Given the description of an element on the screen output the (x, y) to click on. 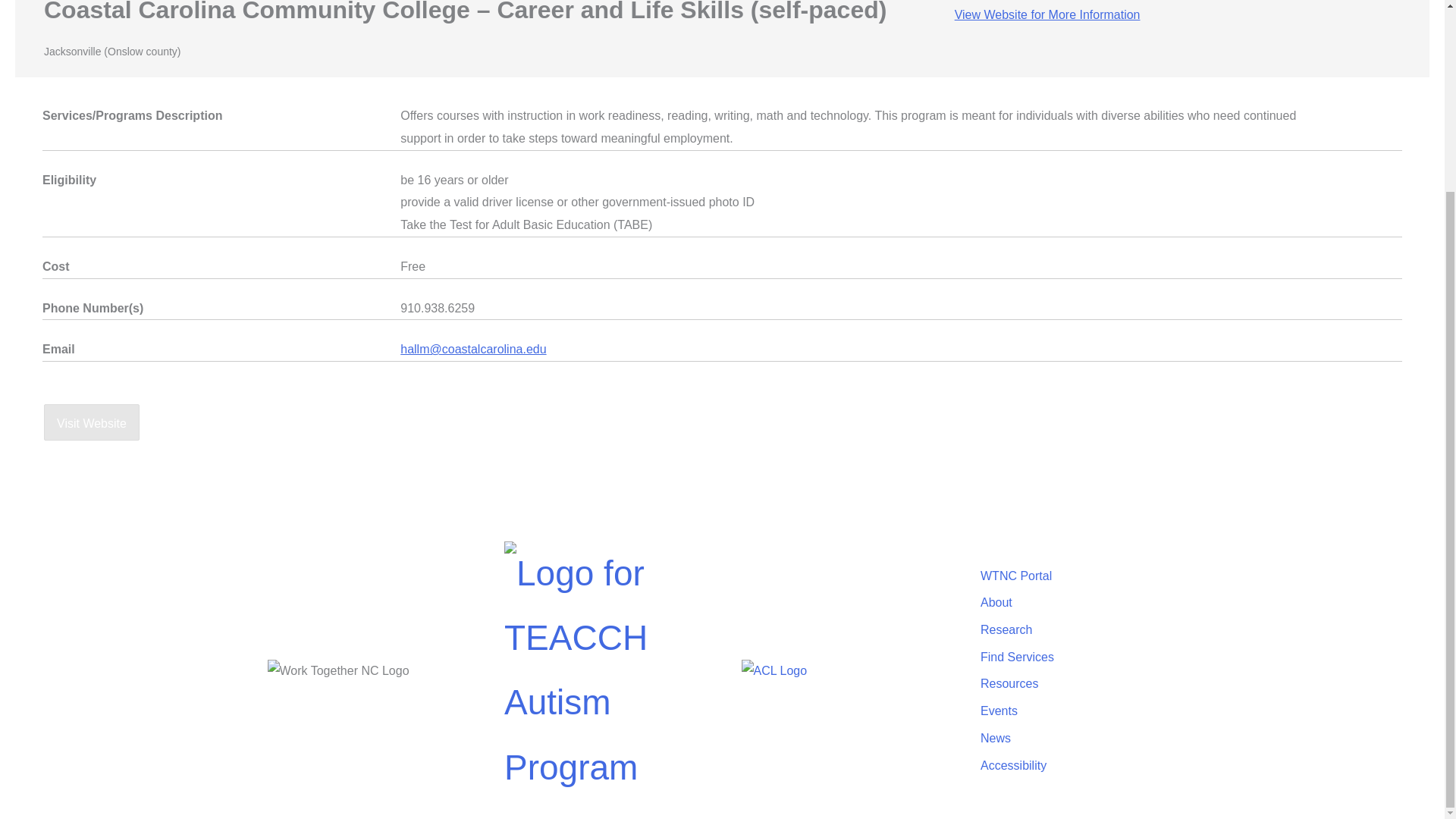
Visit Website (91, 422)
View Website for More Information (1047, 14)
Visit Website (91, 422)
